Given the description of an element on the screen output the (x, y) to click on. 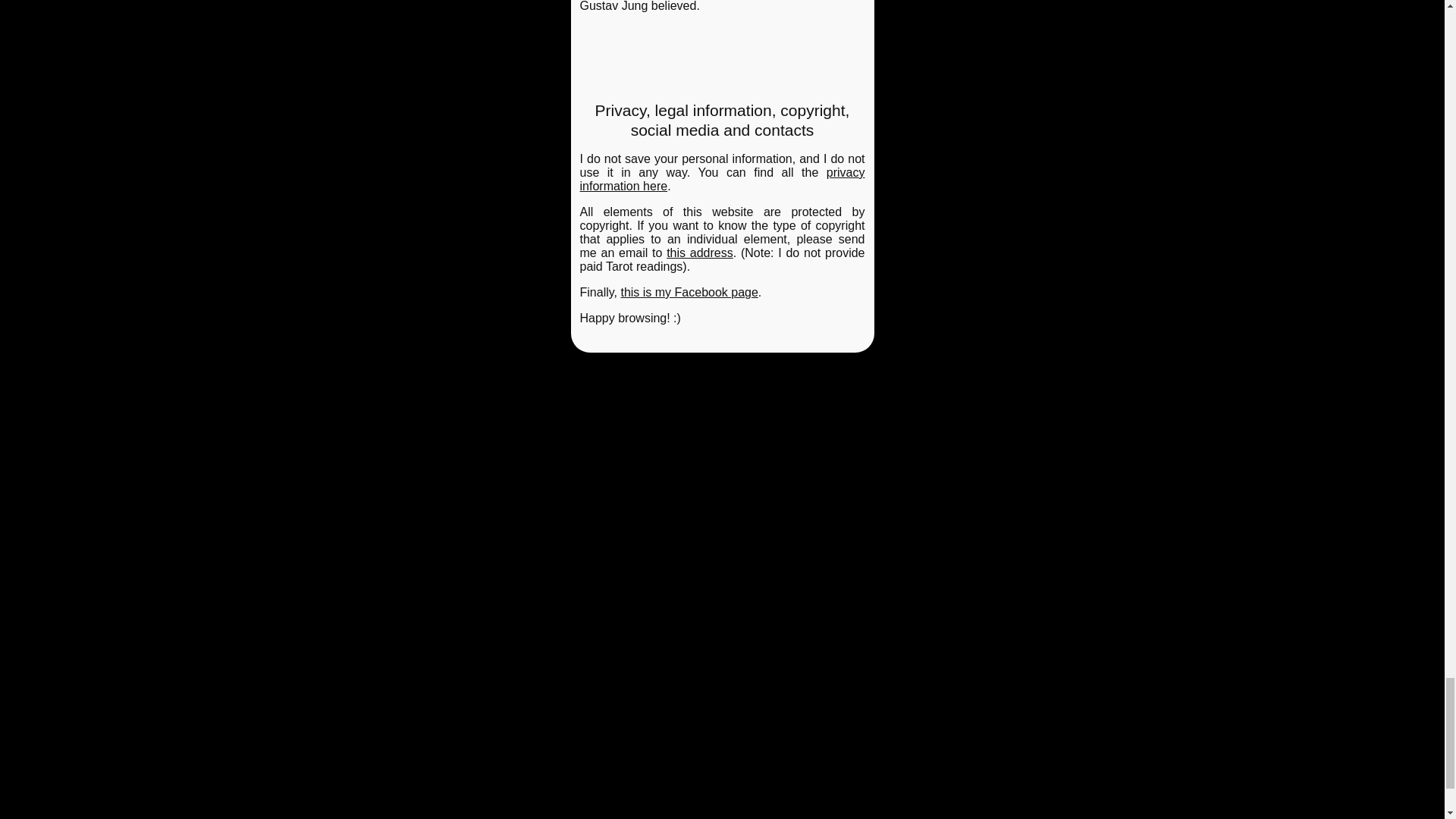
this is my Facebook page (688, 291)
privacy information here (721, 179)
this address (699, 252)
